Given the description of an element on the screen output the (x, y) to click on. 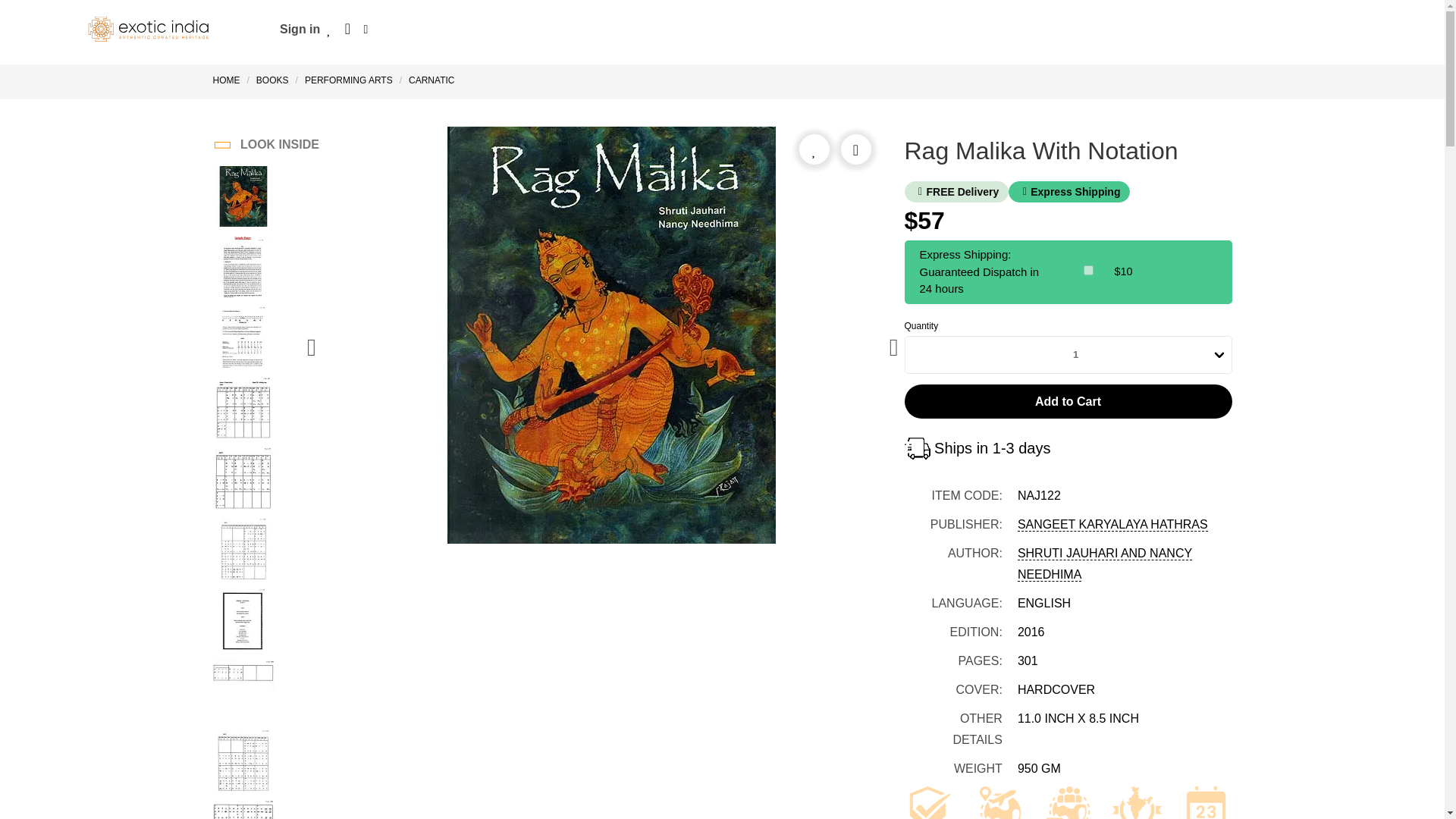
Rag Malika With Notation (242, 339)
Rag Malika With Notation (242, 410)
Carnatic (431, 79)
Sign in (299, 29)
Rag Malika With Notation (242, 269)
BOOKS (271, 79)
Performing Arts (348, 79)
Books (271, 79)
Wishlist (328, 29)
